Given the description of an element on the screen output the (x, y) to click on. 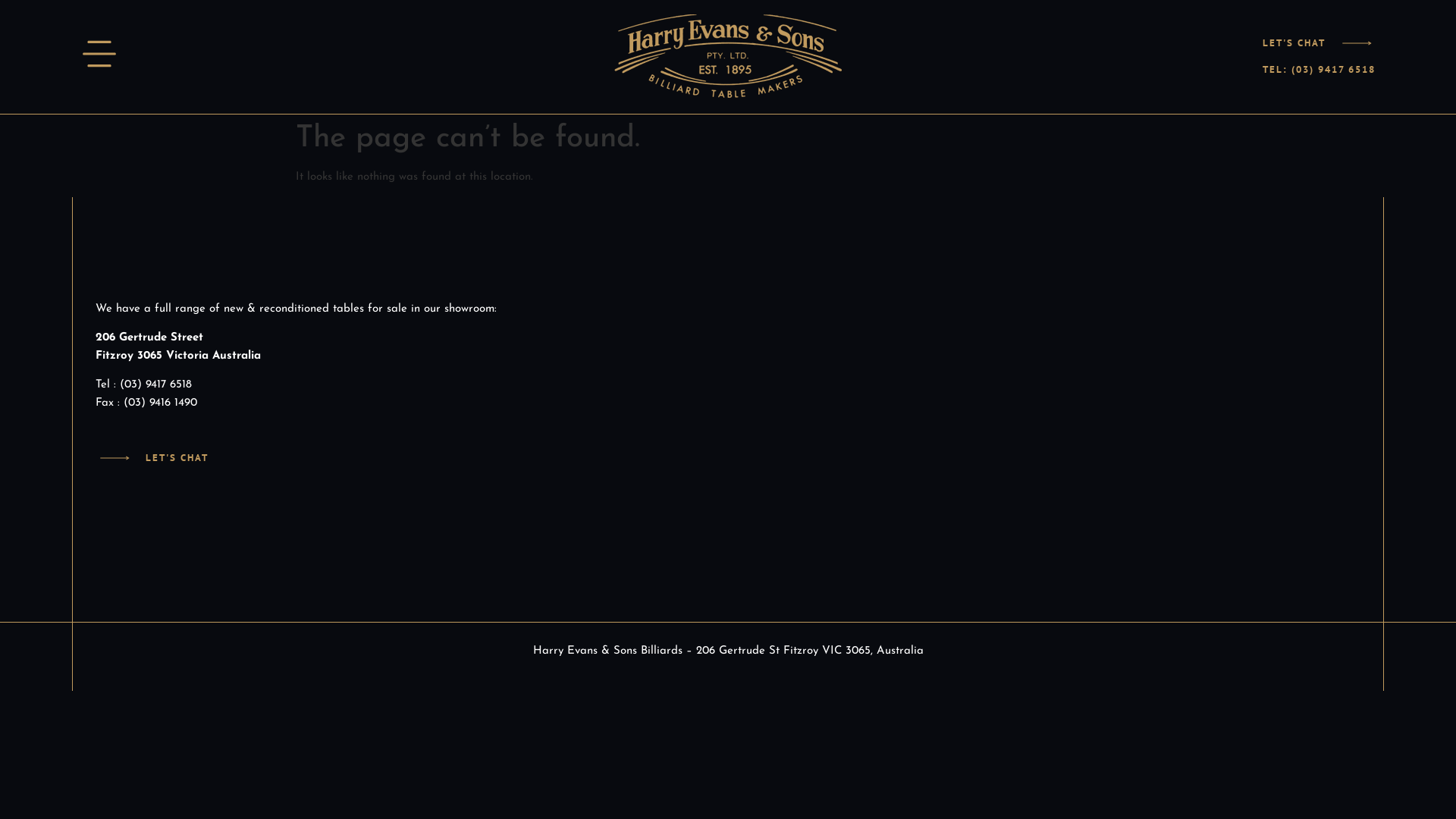
LET'S CHAT Element type: text (1293, 42)
LET'S CHAT Element type: text (176, 457)
